Given the description of an element on the screen output the (x, y) to click on. 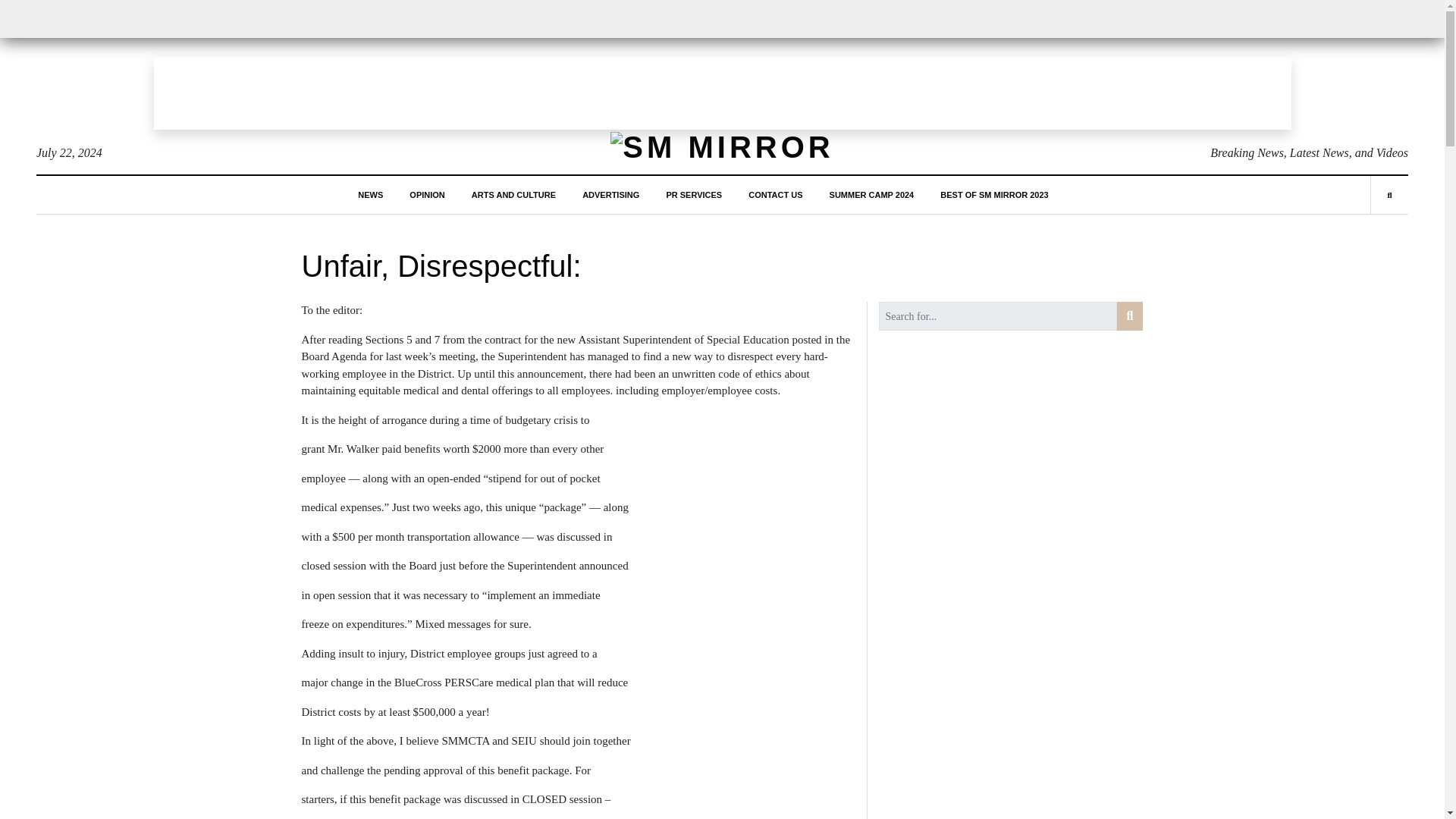
CONTACT US (775, 194)
ADVERTISING (610, 194)
ARTS AND CULTURE (513, 194)
BEST OF SM MIRROR 2023 (994, 194)
SUMMER CAMP 2024 (871, 194)
OPINION (426, 194)
PR SERVICES (693, 194)
